Given the description of an element on the screen output the (x, y) to click on. 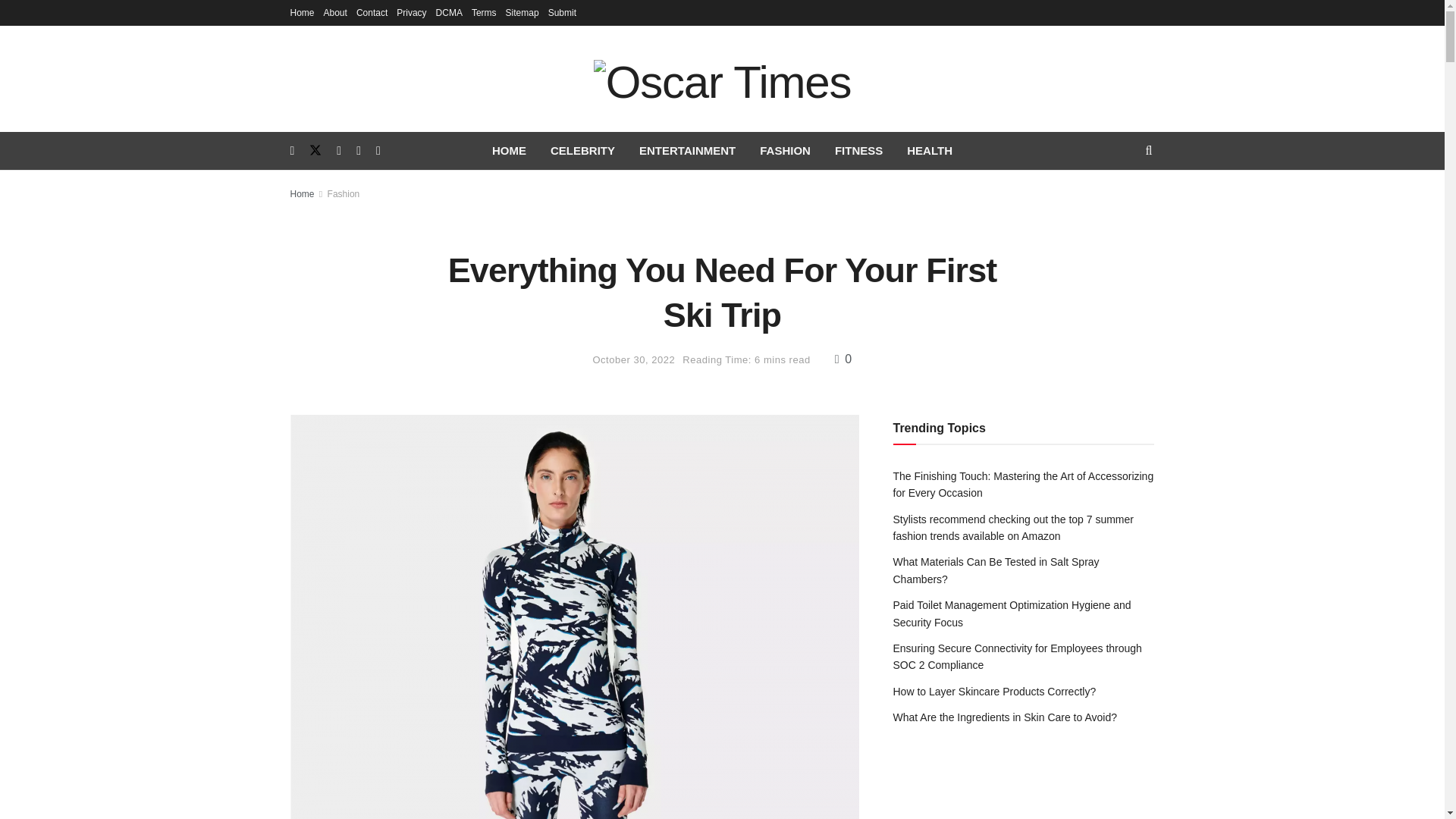
ENTERTAINMENT (687, 150)
Home (301, 12)
HEALTH (929, 150)
CELEBRITY (582, 150)
Sitemap (521, 12)
October 30, 2022 (633, 359)
0 (842, 358)
HOME (509, 150)
Submit (562, 12)
Privacy (411, 12)
